Given the description of an element on the screen output the (x, y) to click on. 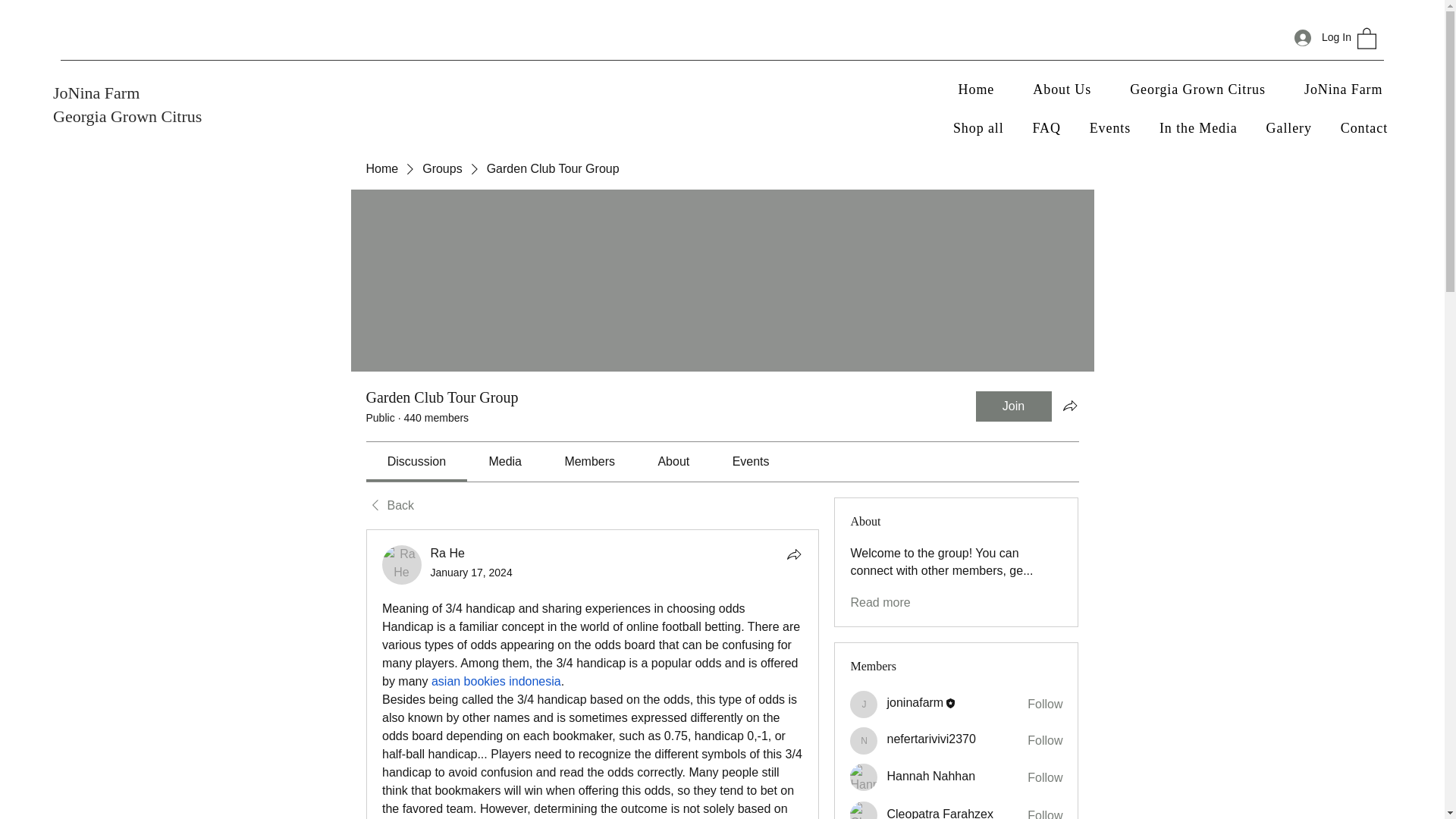
JoNina Farm (1343, 89)
Join (1013, 406)
In the Media (1198, 128)
Gallery (1289, 128)
asian bookies indonesia (495, 680)
About Us (1062, 89)
Contact (1364, 128)
joninafarm (863, 704)
Shop all (978, 128)
January 17, 2024 (471, 572)
Ra He (401, 564)
FAQ (1046, 128)
Events (1109, 128)
Home (976, 89)
nefertarivivi2370 (863, 740)
